Given the description of an element on the screen output the (x, y) to click on. 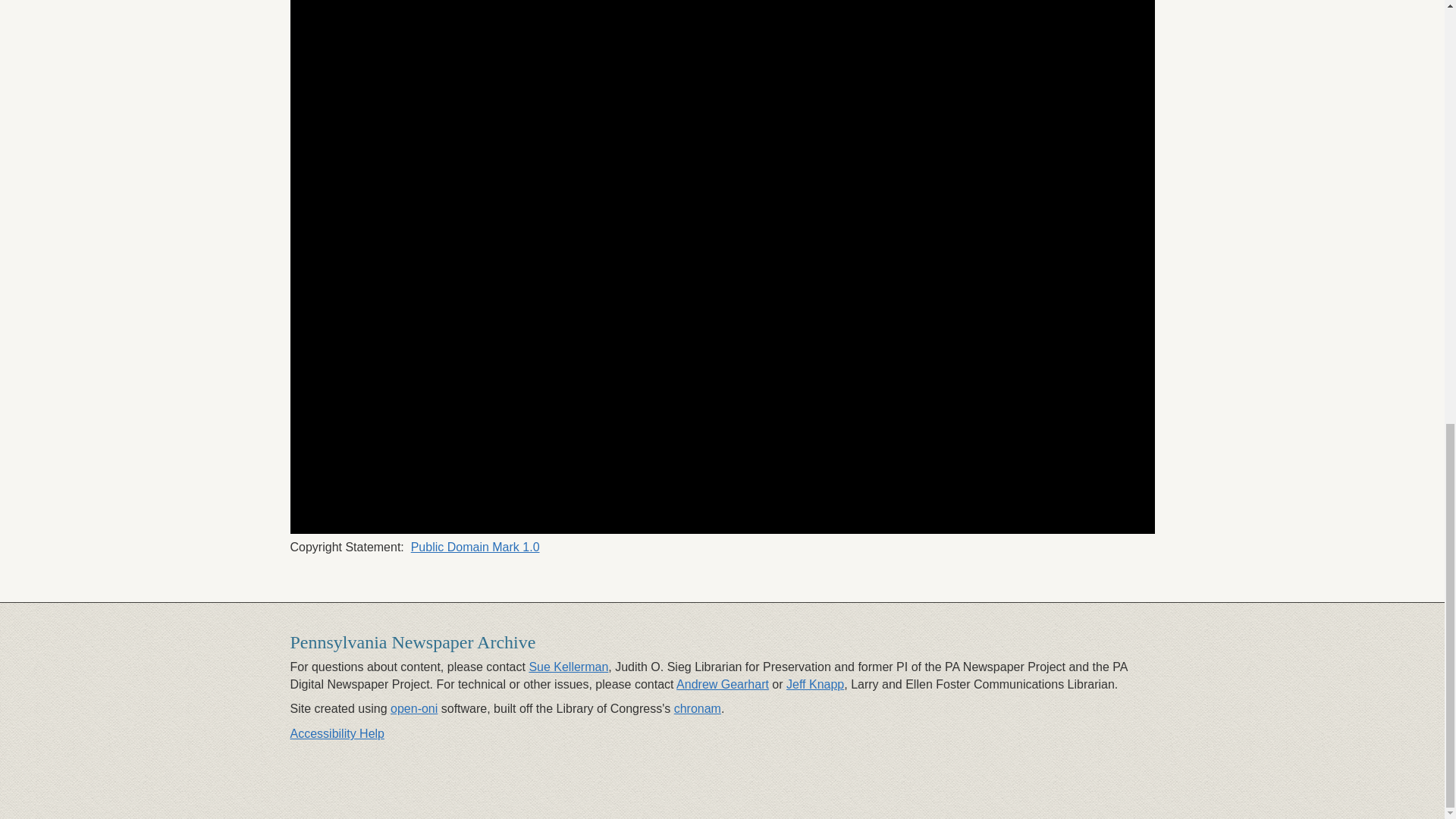
Public Domain Mark 1.0 (475, 546)
Sue Kellerman (568, 666)
chronam (697, 707)
open-oni (414, 707)
Andrew Gearhart (722, 684)
Jeff Knapp (815, 684)
Accessibility Help (336, 733)
